Given the description of an element on the screen output the (x, y) to click on. 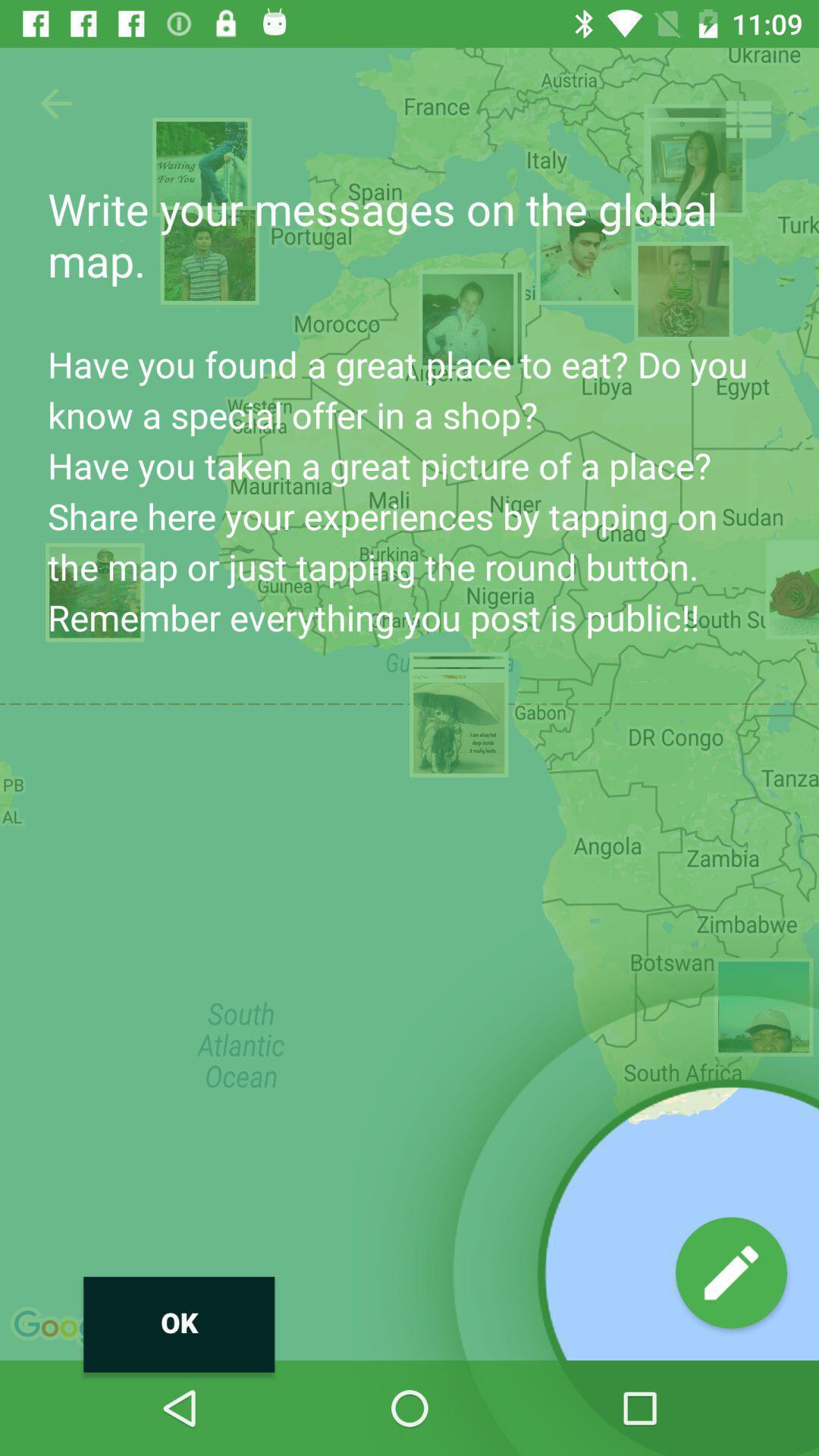
click to write button (731, 1272)
